Given the description of an element on the screen output the (x, y) to click on. 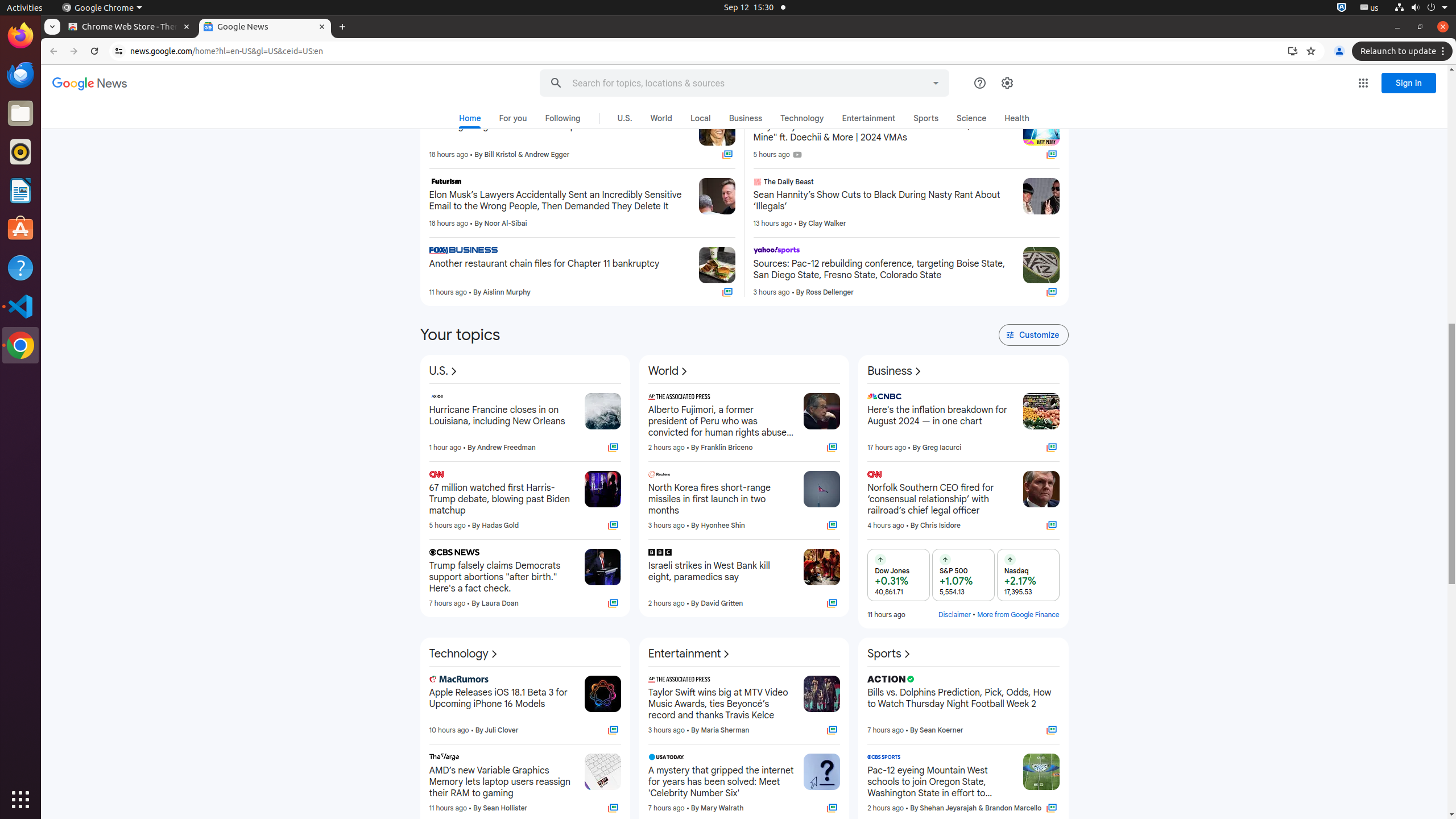
Ubuntu Software Element type: push-button (20, 229)
Another restaurant chain files for Chapter 11 bankruptcy Element type: link (558, 263)
World Element type: link (668, 371)
New Tab Element type: push-button (342, 26)
Bills vs. Dolphins Prediction, Pick, Odds, How to Watch Thursday Night Football Week 2 Element type: link (963, 704)
